Given the description of an element on the screen output the (x, y) to click on. 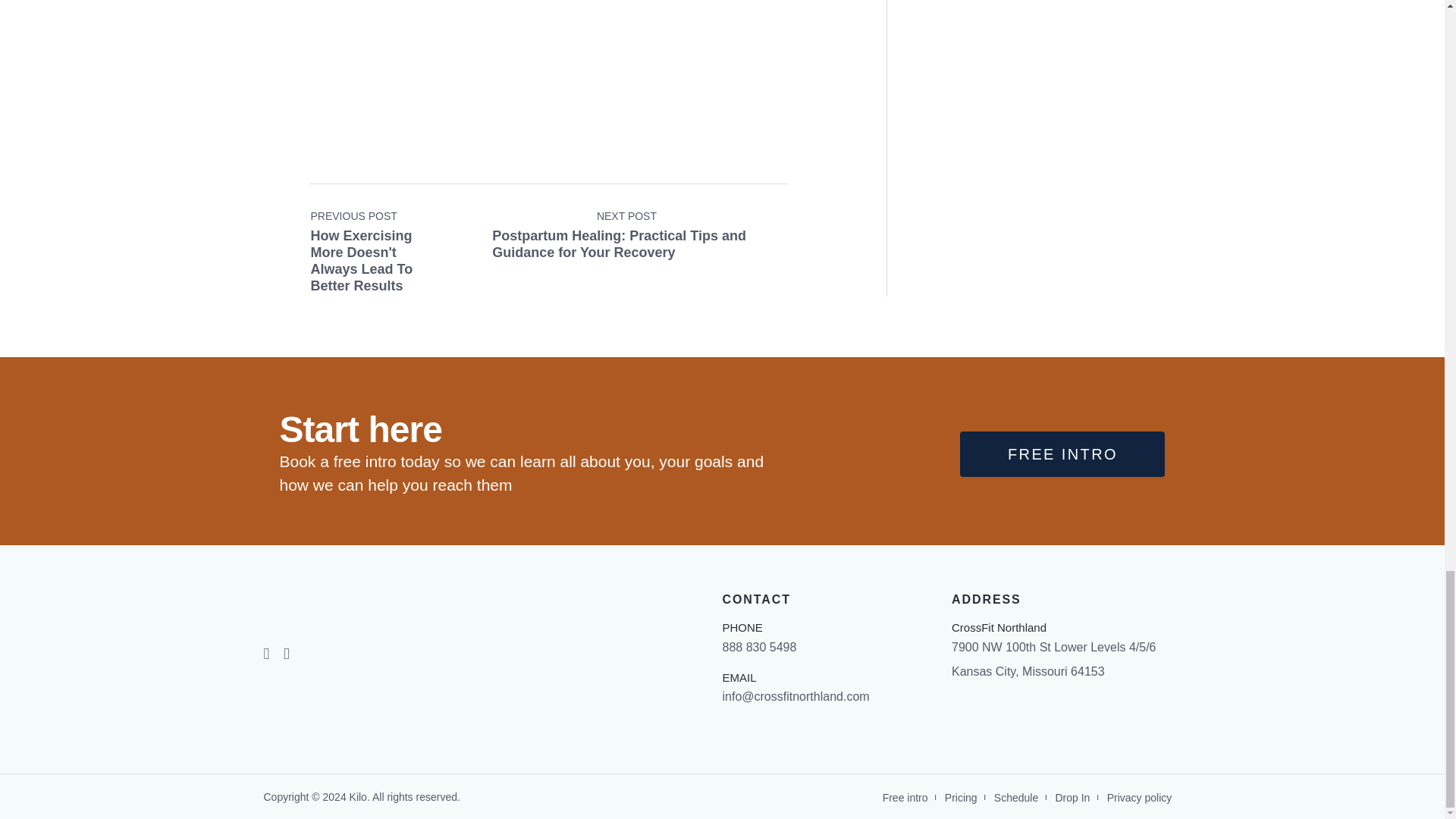
How Exercising More Doesn't Always Lead To Better Results (387, 228)
FREE INTRO (1061, 453)
